Given the description of an element on the screen output the (x, y) to click on. 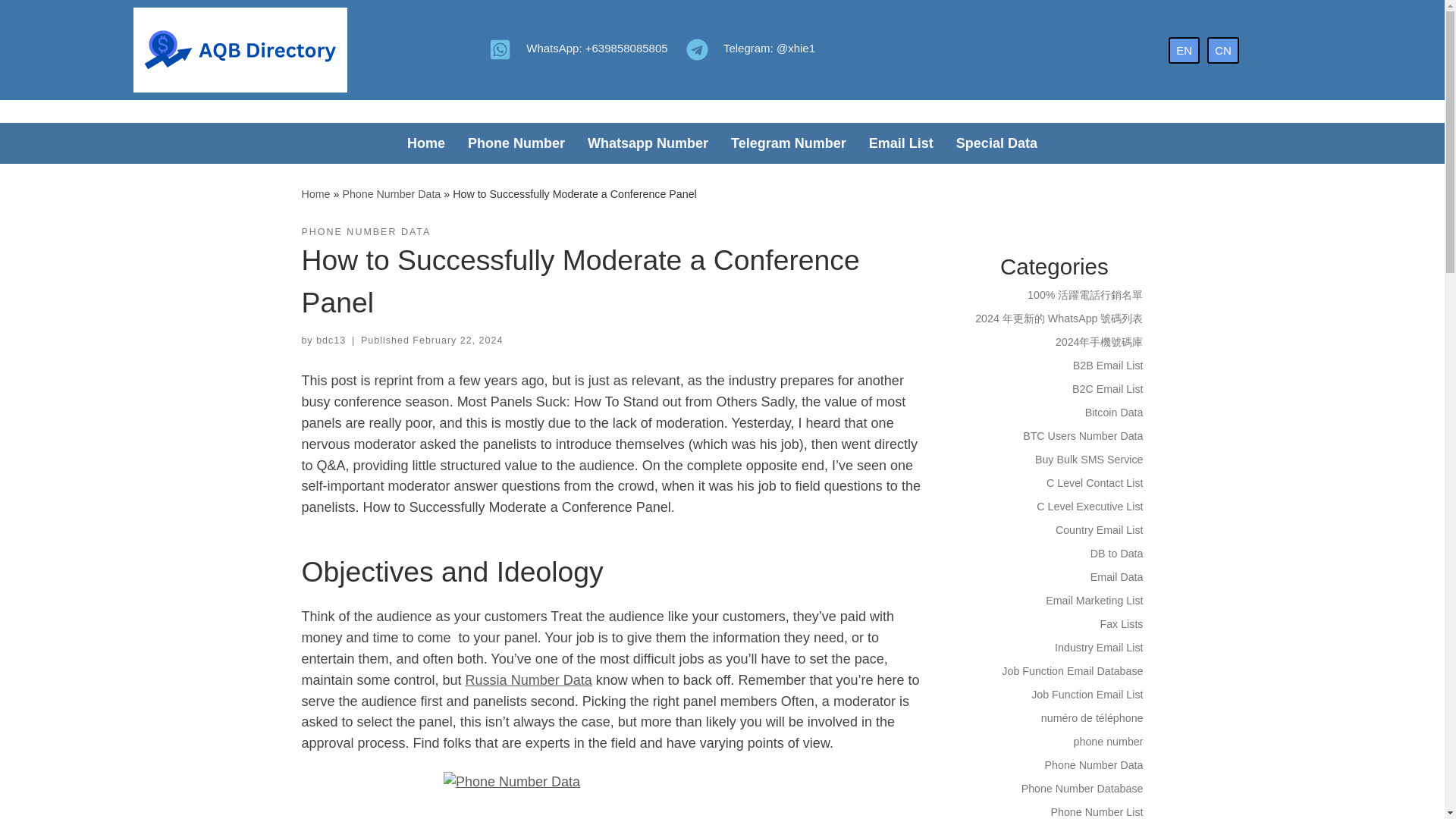
February 22, 2024 (457, 339)
Russia Number Data (528, 679)
Email List (900, 143)
AQB Directory (315, 193)
Phone Number Data (391, 193)
Phone Number Data (391, 193)
Telegram Number (788, 143)
6:28 am (457, 339)
View all posts by bdc13 (330, 339)
Whatsapp Number (647, 143)
PHONE NUMBER DATA (365, 232)
View all posts in Phone Number Data (365, 232)
CN (1223, 49)
bdc13 (330, 339)
Home (426, 143)
